Given the description of an element on the screen output the (x, y) to click on. 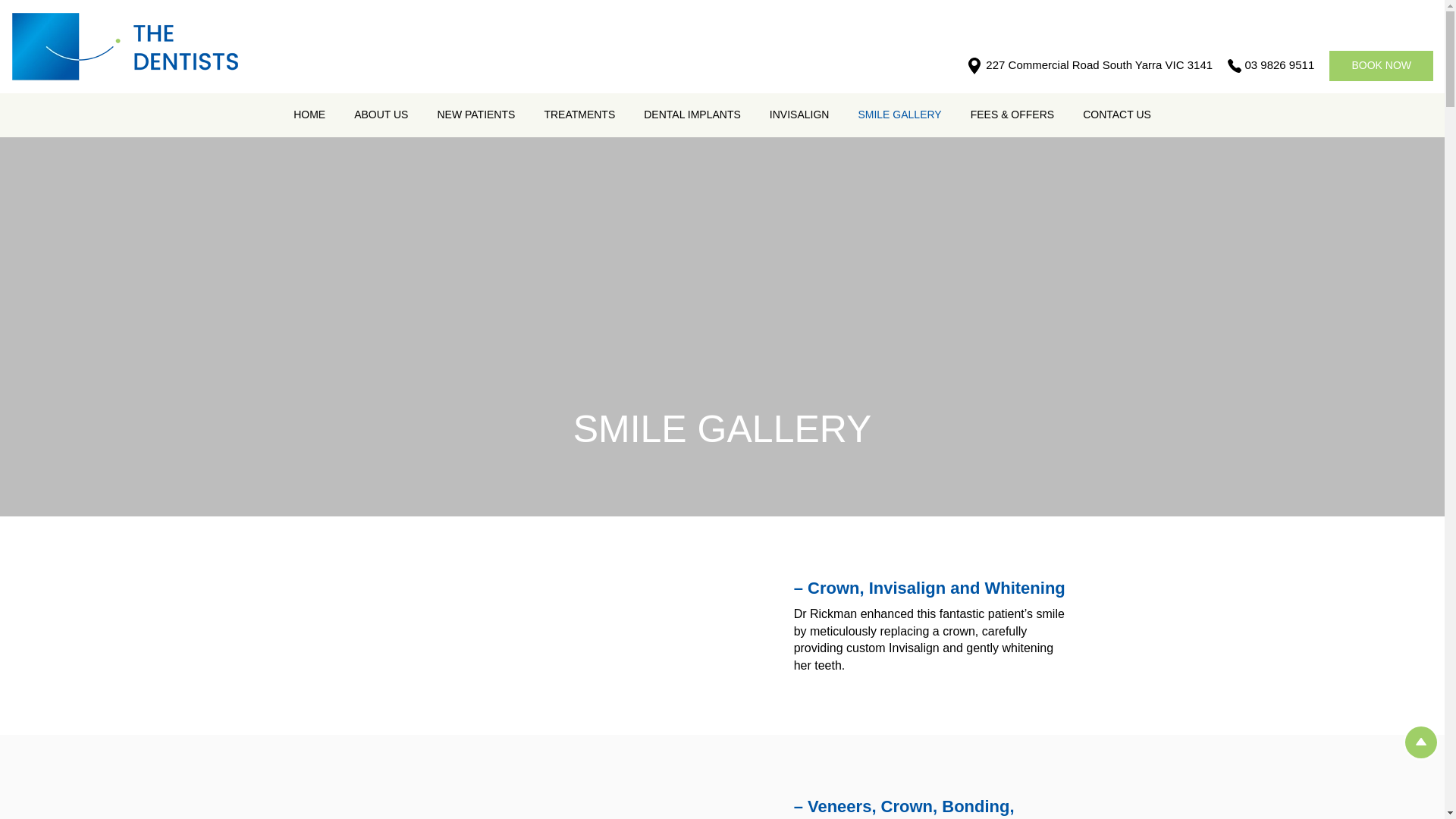
Home (309, 115)
About Us (380, 115)
BOOK NOW (1380, 65)
TREATMENTS (578, 115)
New Patients (475, 115)
NEW PATIENTS (475, 115)
Treatments (578, 115)
HOME (309, 115)
Click to Top (1421, 742)
03 9826 9511 (1279, 64)
